Given the description of an element on the screen output the (x, y) to click on. 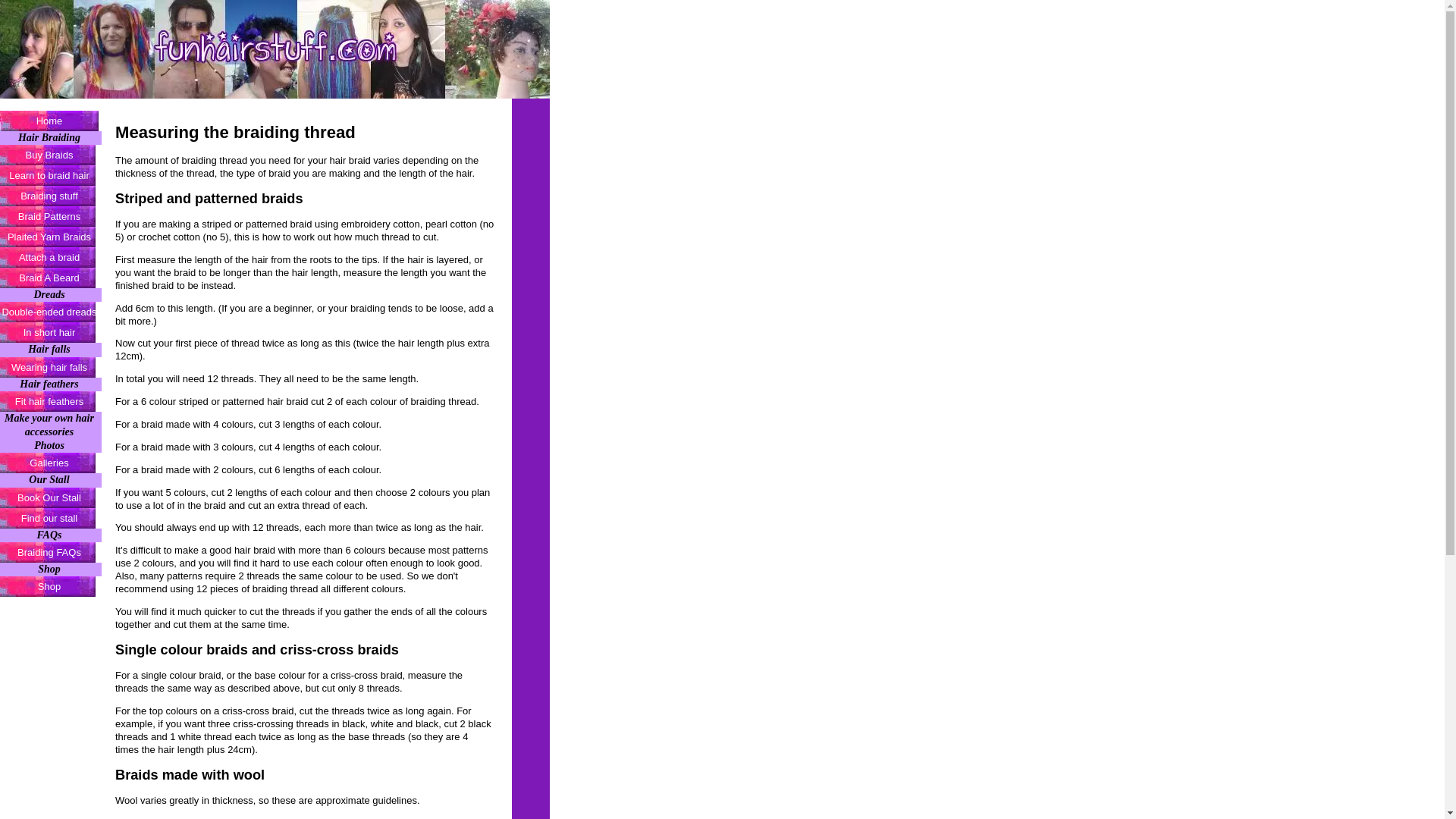
Book Our Stall (50, 496)
Braid A Beard (50, 277)
Braiding stuff (50, 195)
Learn to braid hair (50, 175)
Wearing hair falls (50, 367)
Find our stall (50, 517)
Braid Patterns (50, 216)
In short hair (50, 332)
Double-ended dreads (50, 312)
Fit hair feathers (50, 401)
